Given the description of an element on the screen output the (x, y) to click on. 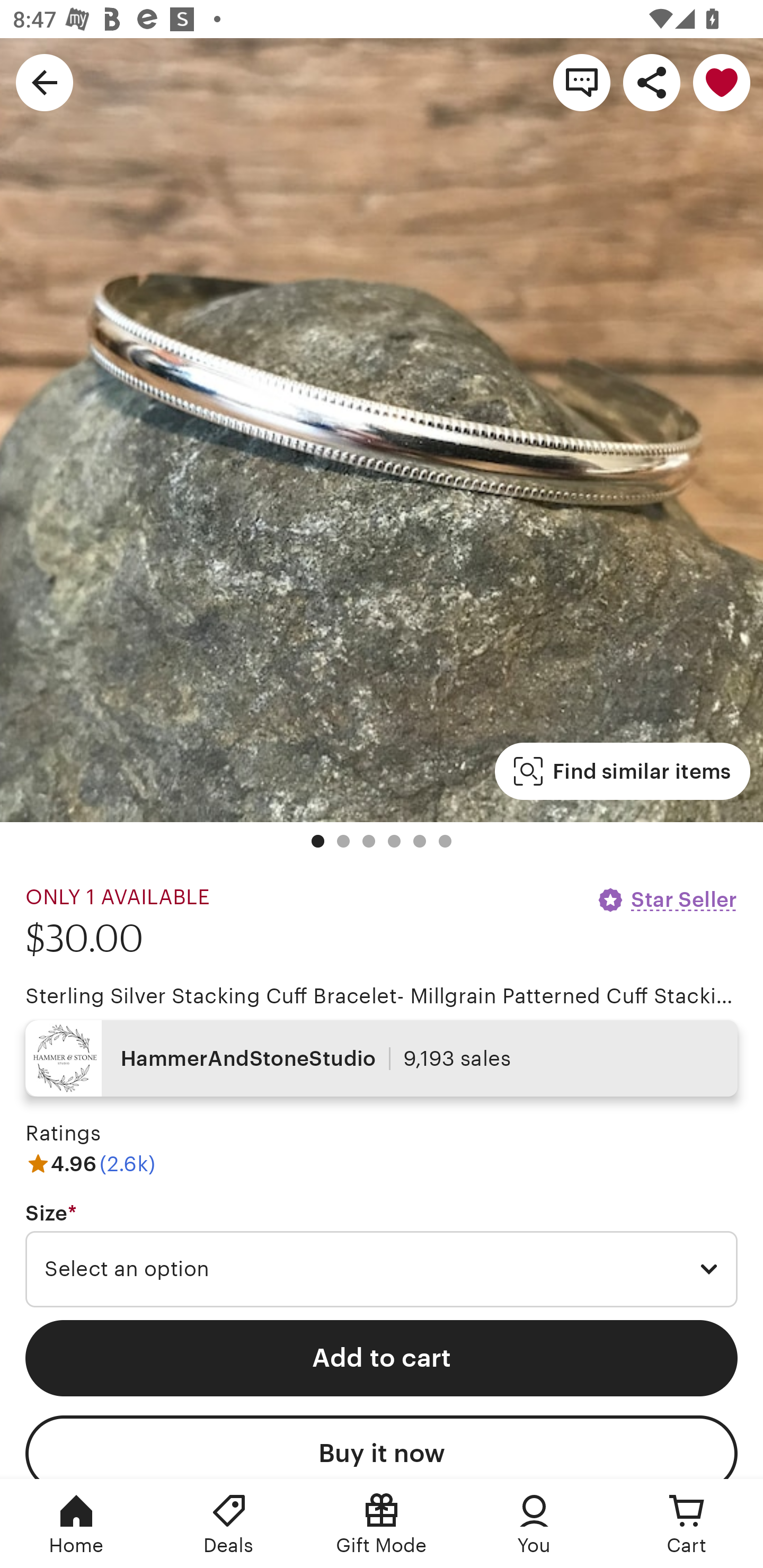
Navigate up (44, 81)
Contact shop (581, 81)
Share (651, 81)
Find similar items (622, 771)
Star Seller (666, 899)
HammerAndStoneStudio 9,193 sales (381, 1058)
Ratings (62, 1133)
4.96 (2.6k) (90, 1163)
Size * Required Select an option (381, 1254)
Select an option (381, 1268)
Add to cart (381, 1358)
Buy it now (381, 1446)
Deals (228, 1523)
Gift Mode (381, 1523)
You (533, 1523)
Cart (686, 1523)
